Given the description of an element on the screen output the (x, y) to click on. 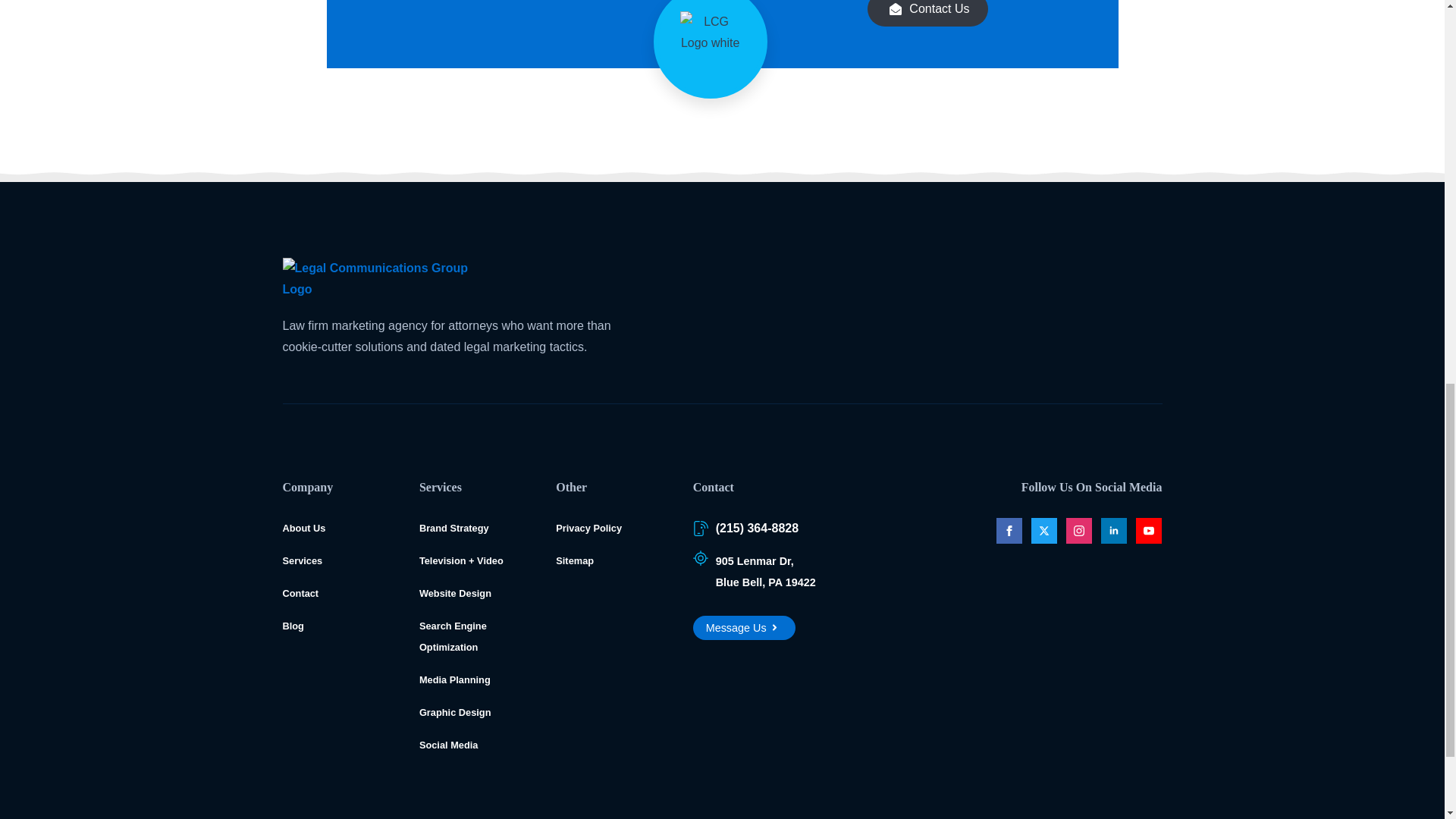
Services (301, 560)
Sitemap (575, 560)
About Us (303, 527)
Contact Us (927, 13)
Search Engine Optimization (452, 635)
Media Planning (754, 571)
Privacy Policy (454, 679)
Graphic Design (588, 527)
Blog (455, 712)
Brand Strategy (292, 625)
Contact (454, 527)
Social Media (300, 593)
Website Design (449, 745)
